Given the description of an element on the screen output the (x, y) to click on. 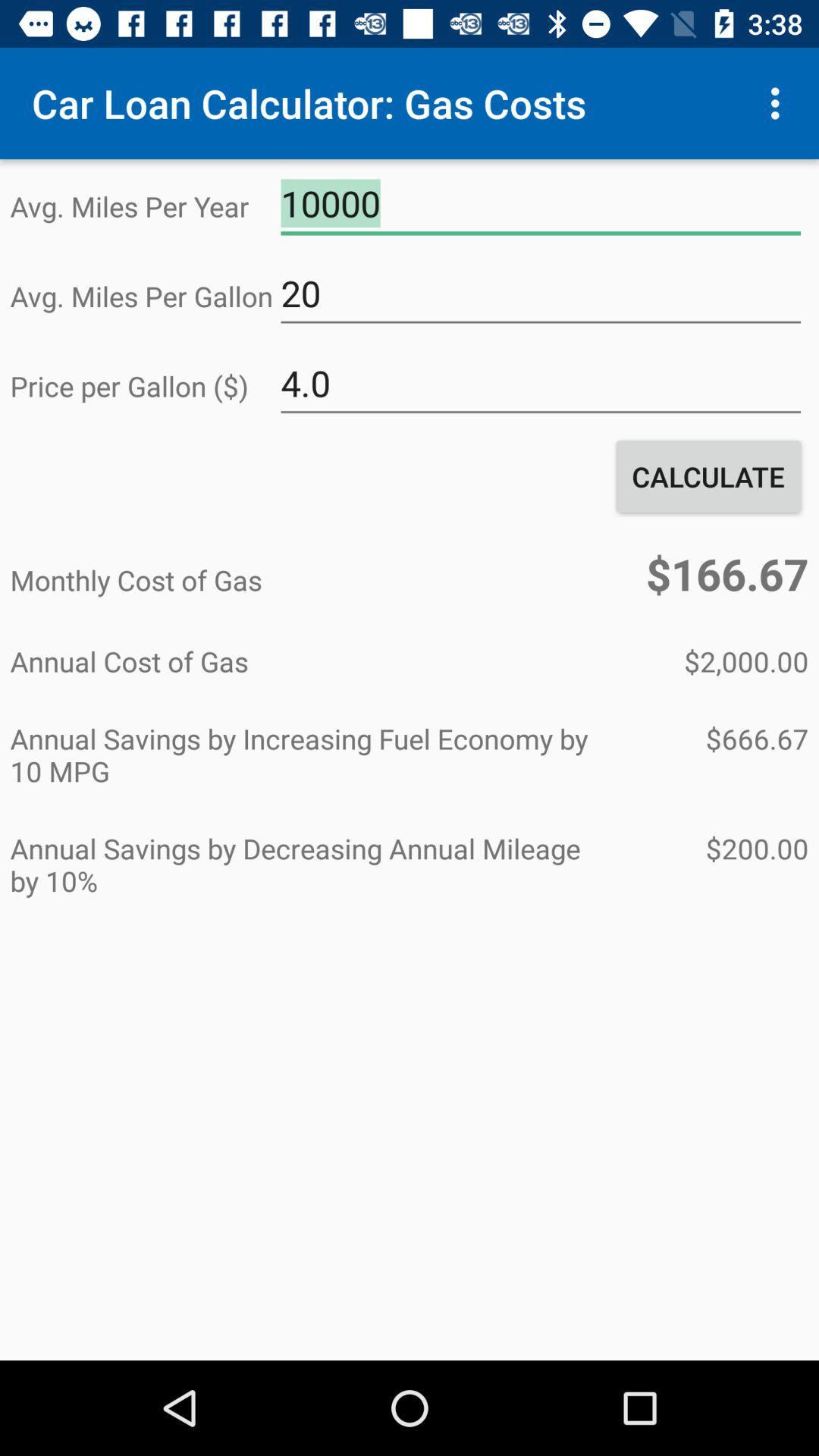
click the item above 20 (540, 204)
